Given the description of an element on the screen output the (x, y) to click on. 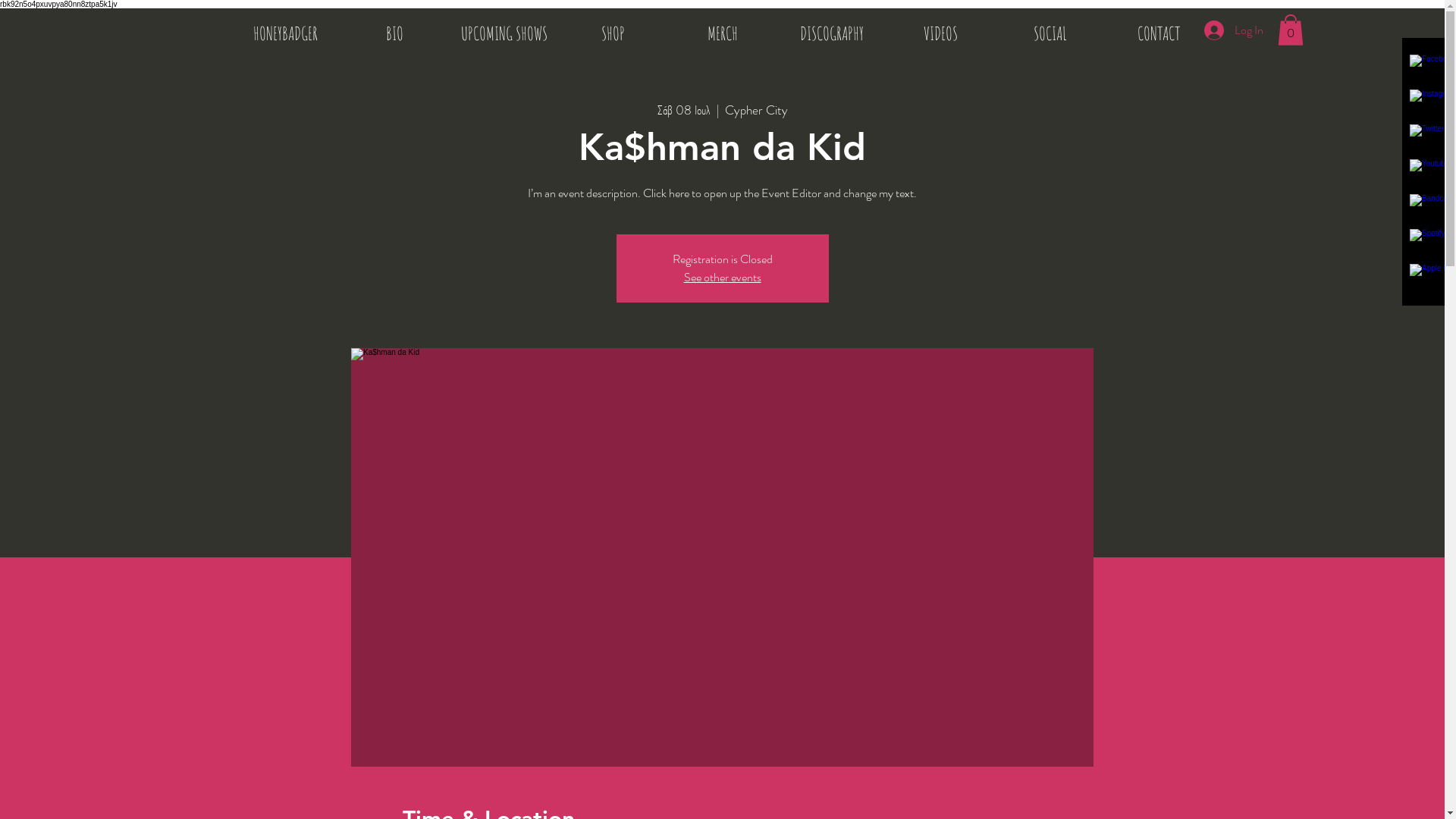
MERCH Element type: text (721, 33)
See other events Element type: text (722, 276)
VIDEOS Element type: text (939, 33)
UPCOMING SHOWS Element type: text (503, 33)
BIO Element type: text (393, 33)
SHOP Element type: text (612, 33)
HONEYBADGER Element type: text (284, 33)
Log In Element type: text (1233, 29)
SOCIAL Element type: text (1049, 33)
DISCOGRAPHY Element type: text (830, 33)
CONTACT Element type: text (1158, 33)
0 Element type: text (1289, 29)
